Given the description of an element on the screen output the (x, y) to click on. 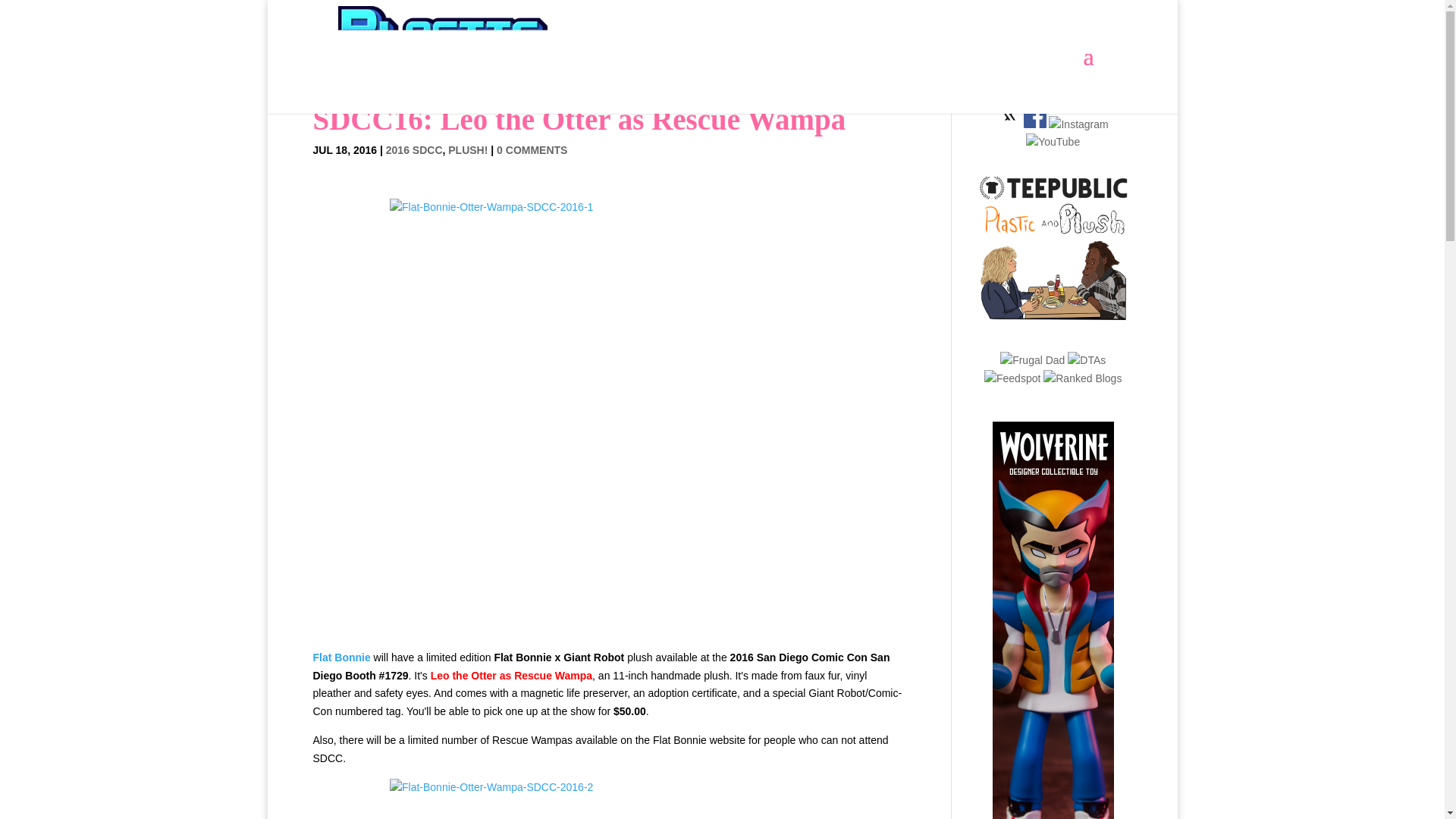
2016 SDCC (413, 150)
0 COMMENTS (531, 150)
Flat Bonnie (341, 657)
PLUSH! (467, 150)
Toy Blogs (1012, 378)
